Given the description of an element on the screen output the (x, y) to click on. 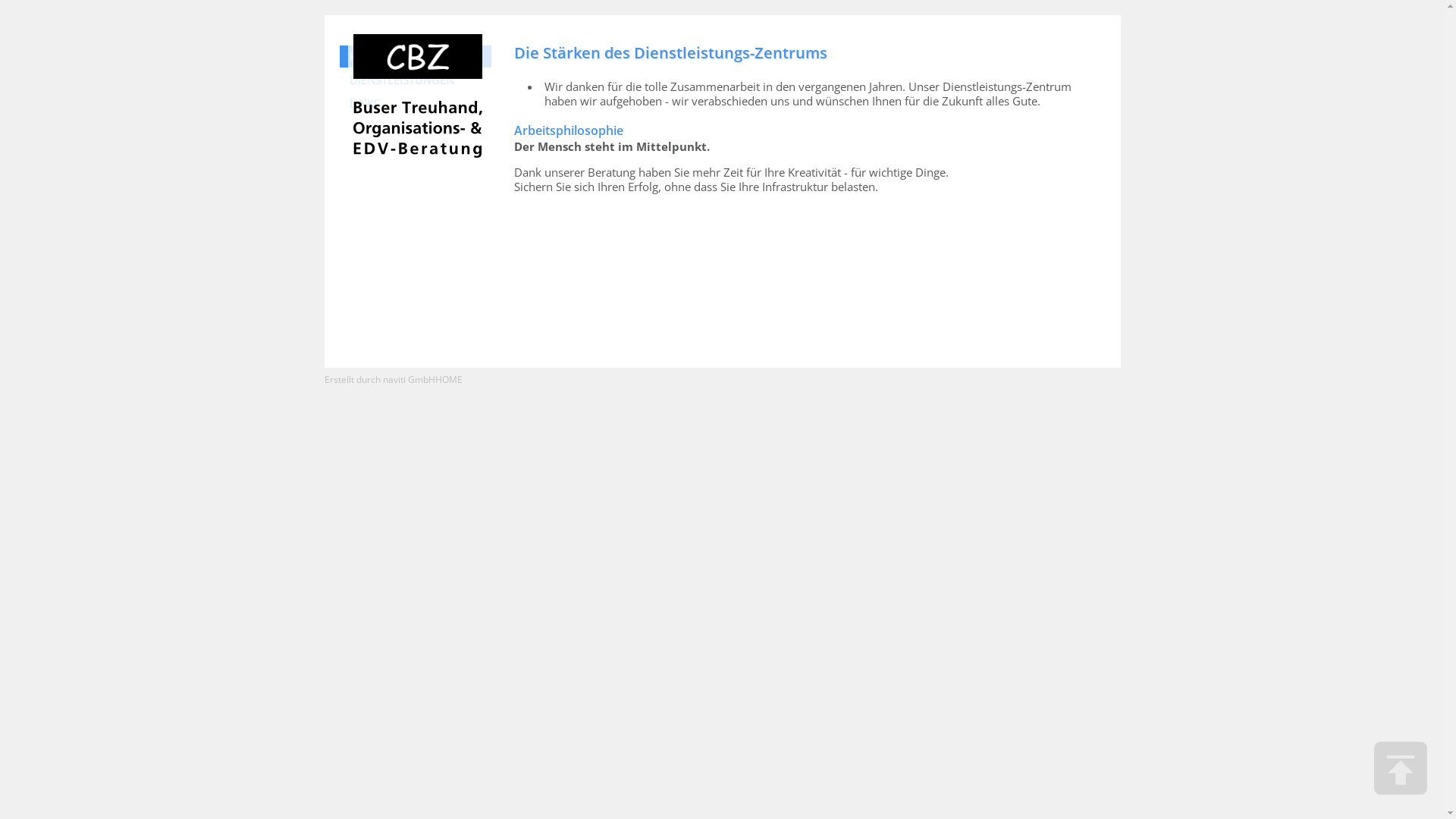
DIENSTLEISTUNGEN Element type: text (415, 80)
HOME Element type: text (448, 379)
LINKS Element type: text (415, 103)
Erstellt durch naviti GmbH Element type: text (379, 379)
HOME Element type: text (415, 56)
